Given the description of an element on the screen output the (x, y) to click on. 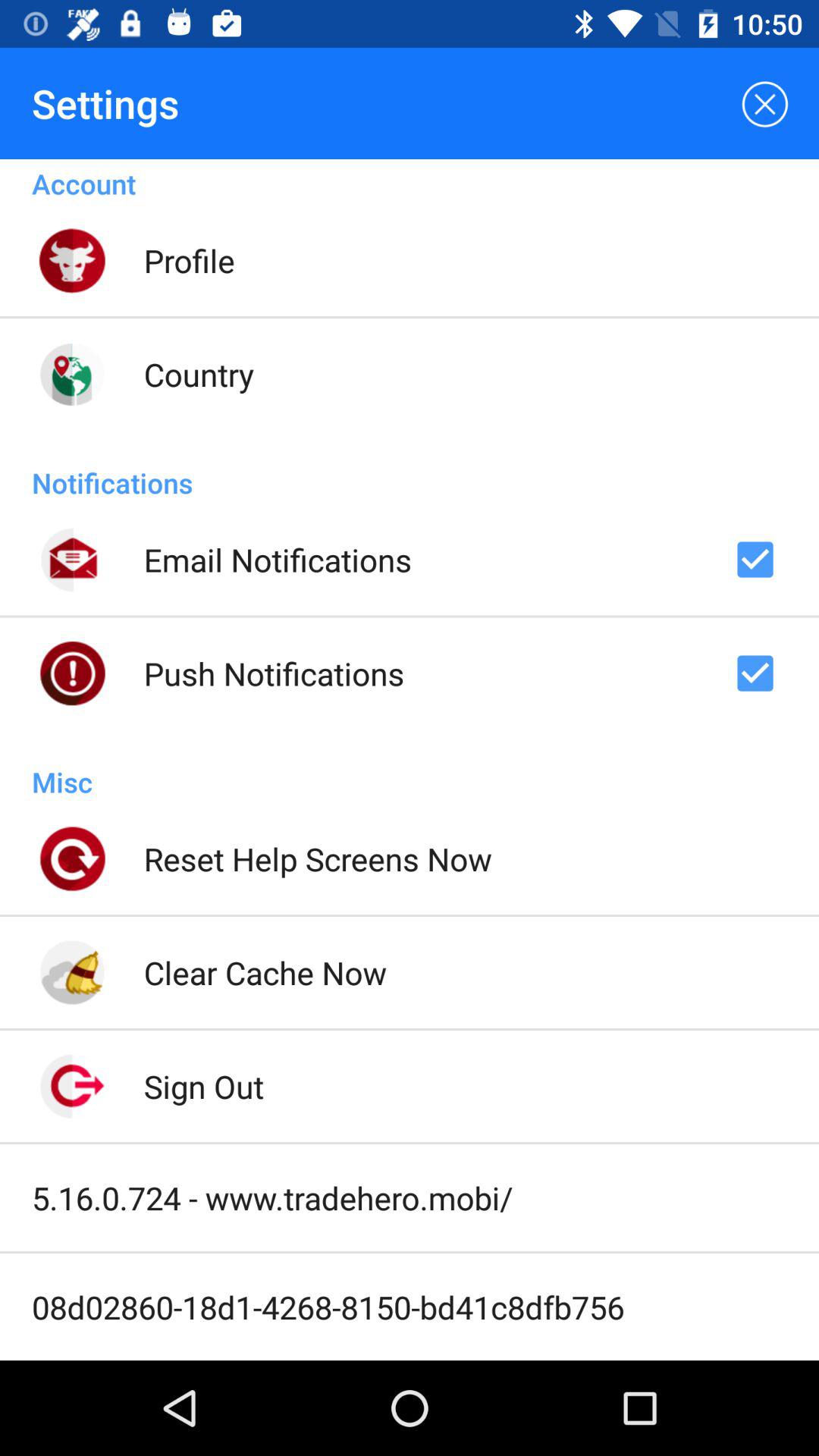
select the country item (198, 373)
